Given the description of an element on the screen output the (x, y) to click on. 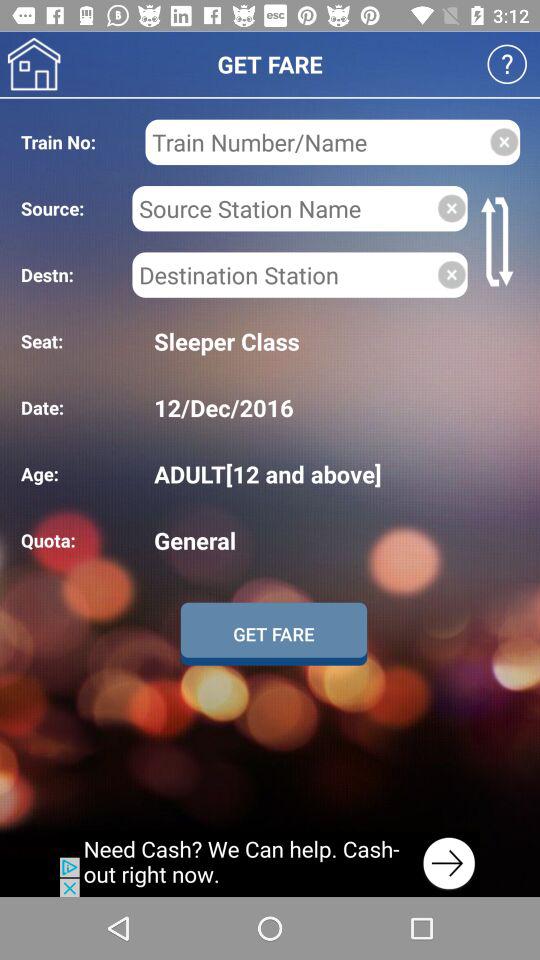
home button (33, 63)
